Given the description of an element on the screen output the (x, y) to click on. 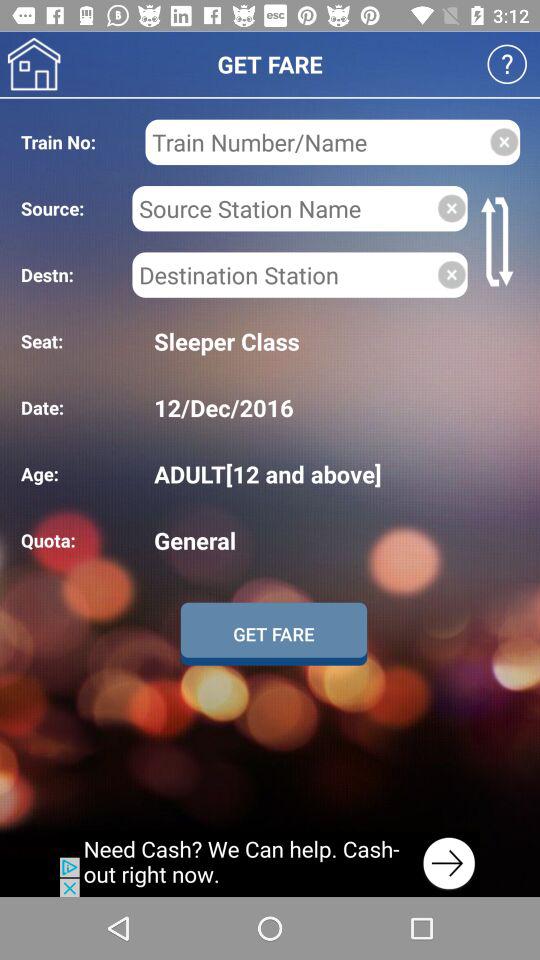
home button (33, 63)
